Given the description of an element on the screen output the (x, y) to click on. 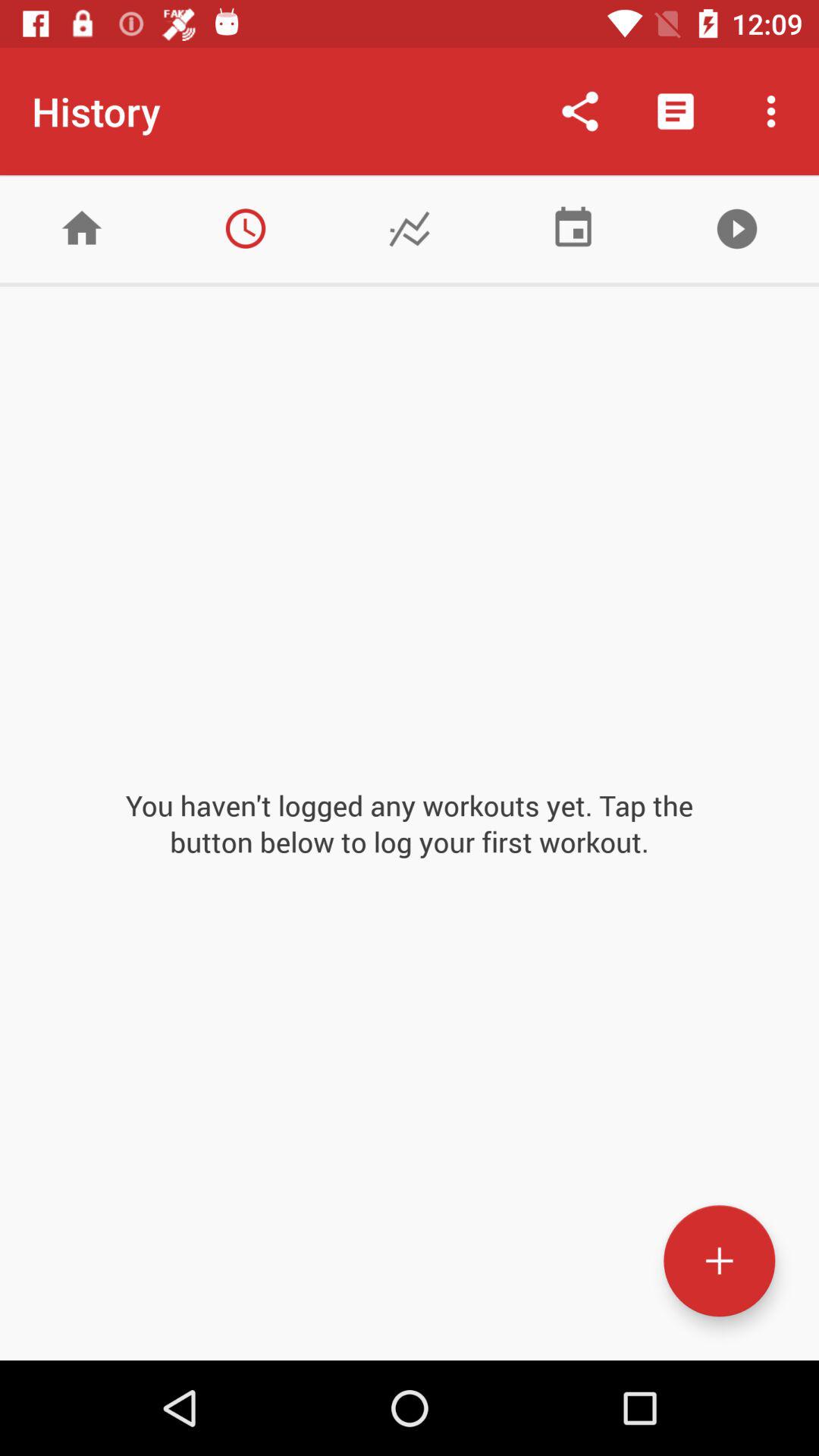
calendar (573, 228)
